Given the description of an element on the screen output the (x, y) to click on. 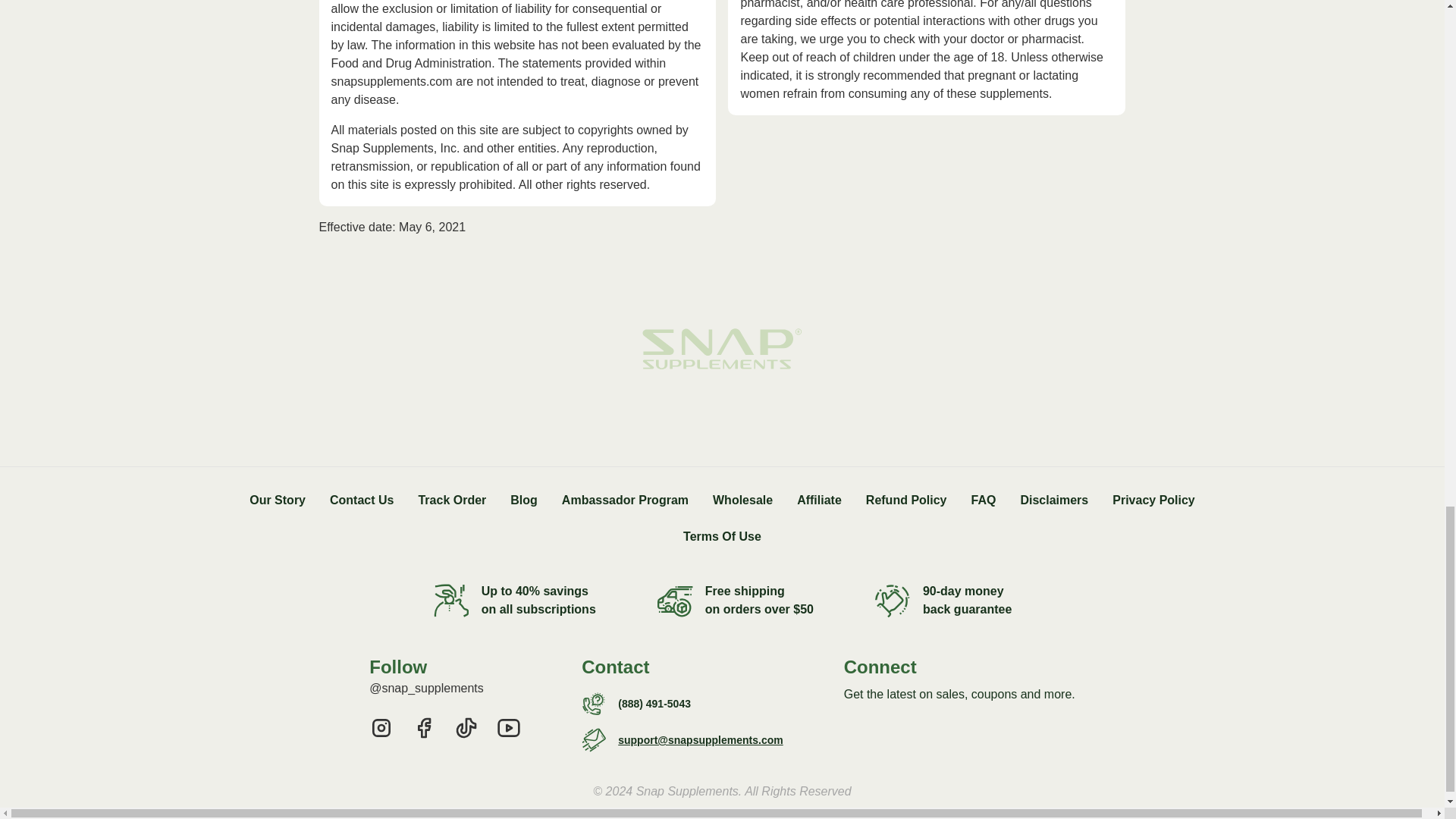
FAQ (983, 500)
Affiliate (818, 500)
Disclaimers (1053, 500)
Wholesale (743, 500)
Our Story (276, 500)
Refund Policy (906, 500)
Blog (524, 500)
Track Order (451, 500)
Ambassador Program (625, 500)
Contact Us (361, 500)
